Given the description of an element on the screen output the (x, y) to click on. 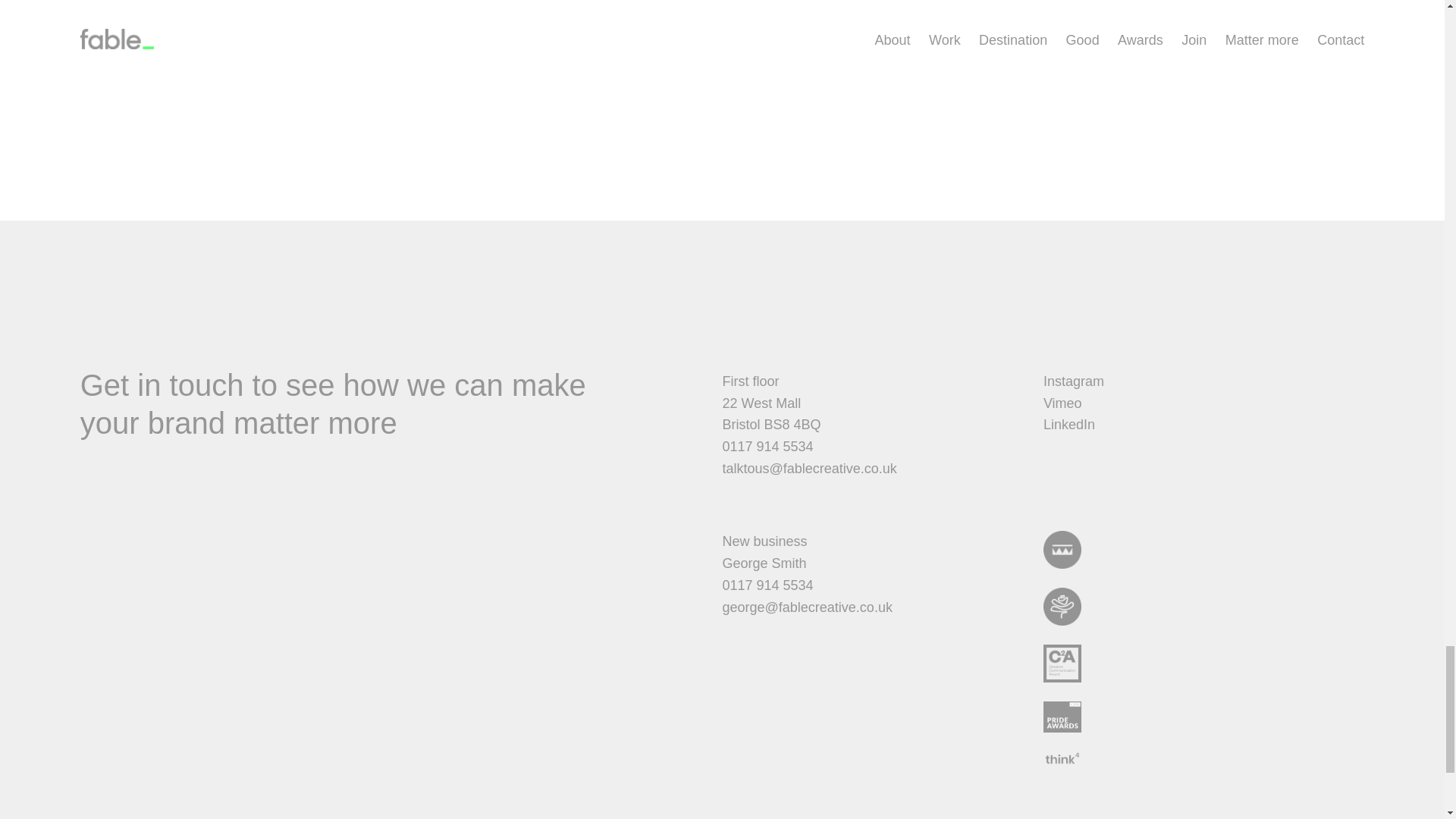
LinkedIn (1068, 435)
Vimeo (1073, 414)
BS8 4BQ (792, 424)
Instagram (1073, 381)
